Given the description of an element on the screen output the (x, y) to click on. 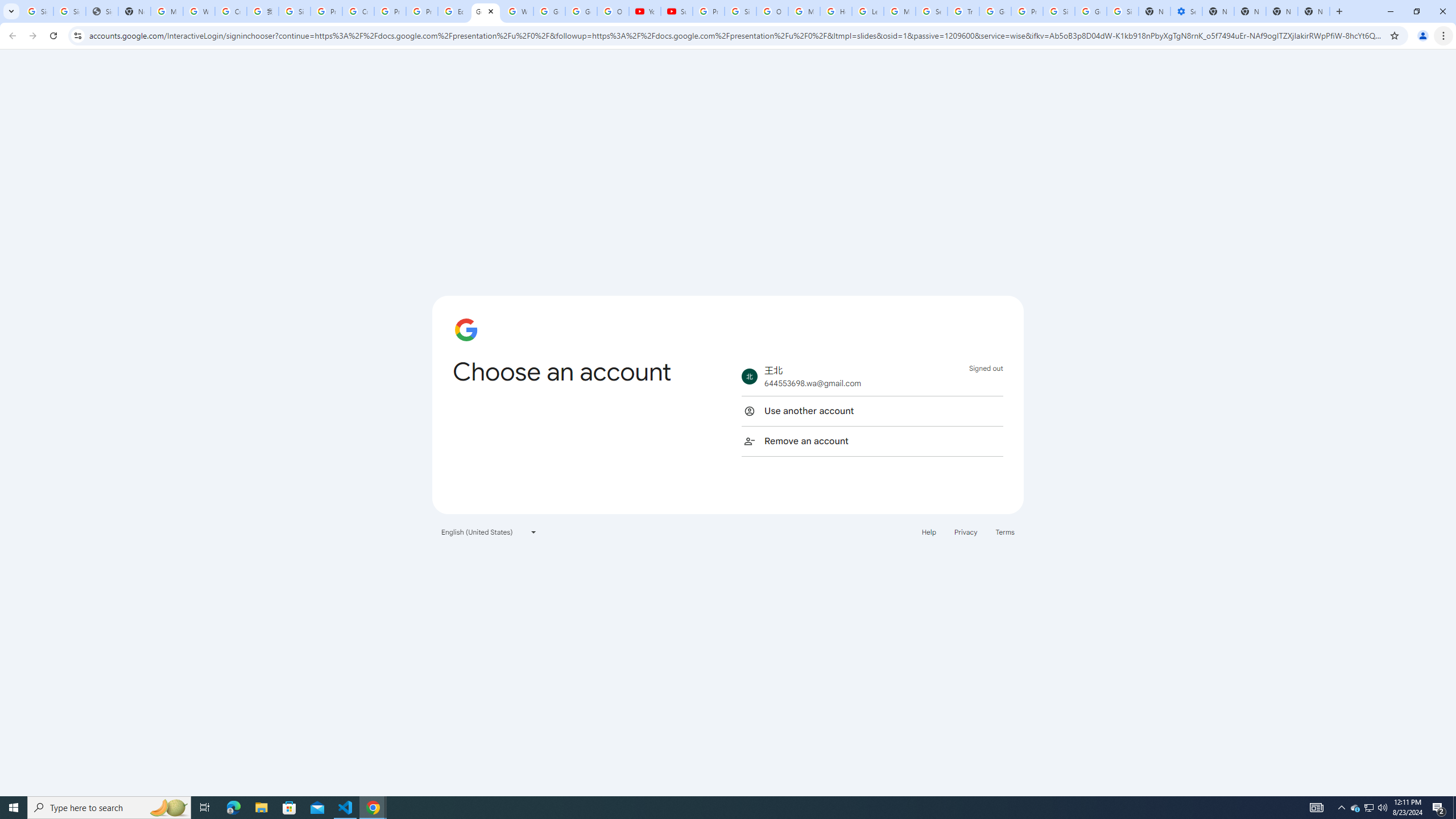
Settings - Performance (1185, 11)
YouTube (644, 11)
Subscriptions - YouTube (676, 11)
Sign in - Google Accounts (1123, 11)
Google Slides: Sign-in (485, 11)
Create your Google Account (230, 11)
Edit and view right-to-left text - Google Docs Editors Help (453, 11)
